Given the description of an element on the screen output the (x, y) to click on. 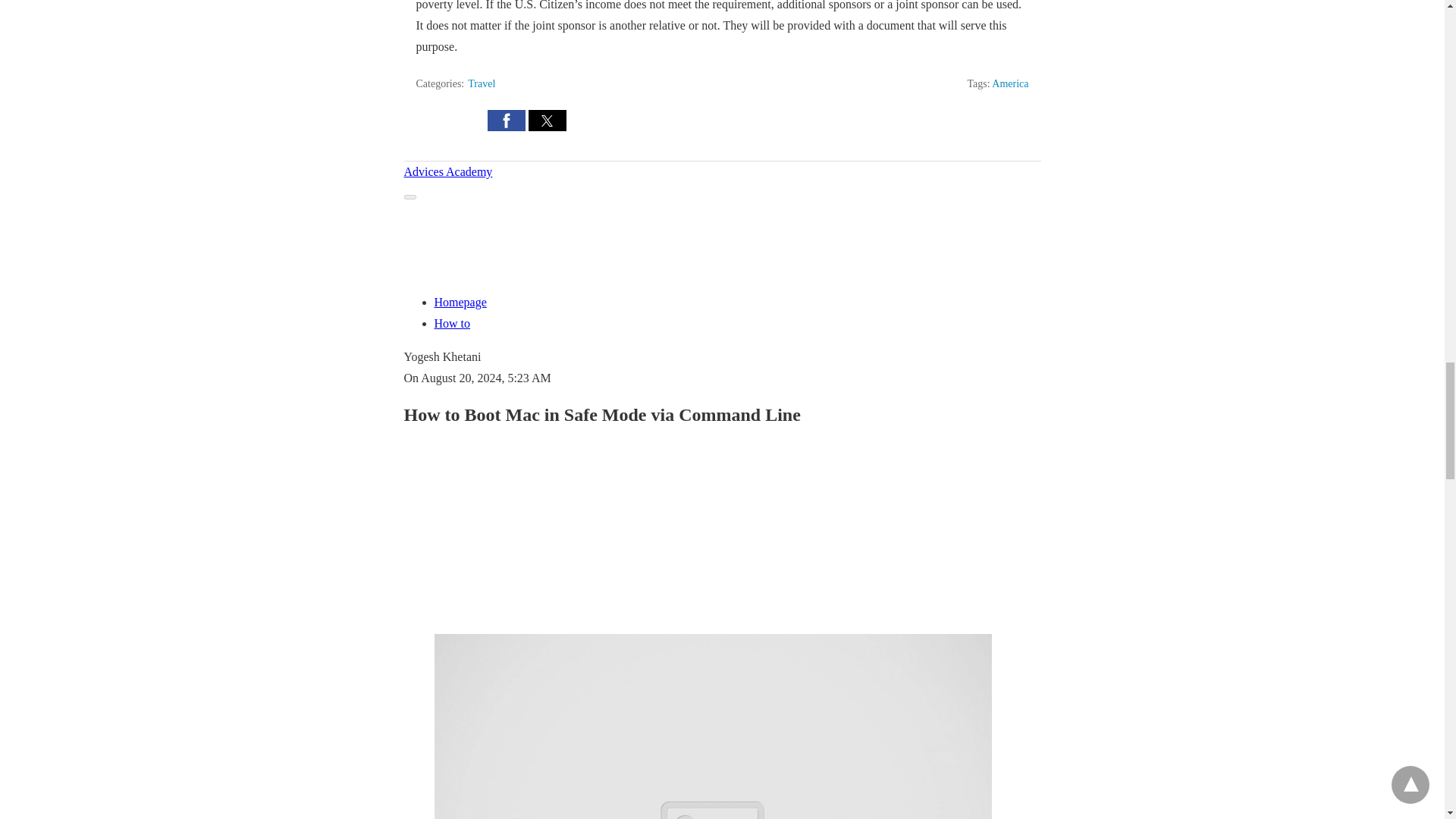
Travel (481, 83)
America (1009, 83)
Travel (481, 83)
